Given the description of an element on the screen output the (x, y) to click on. 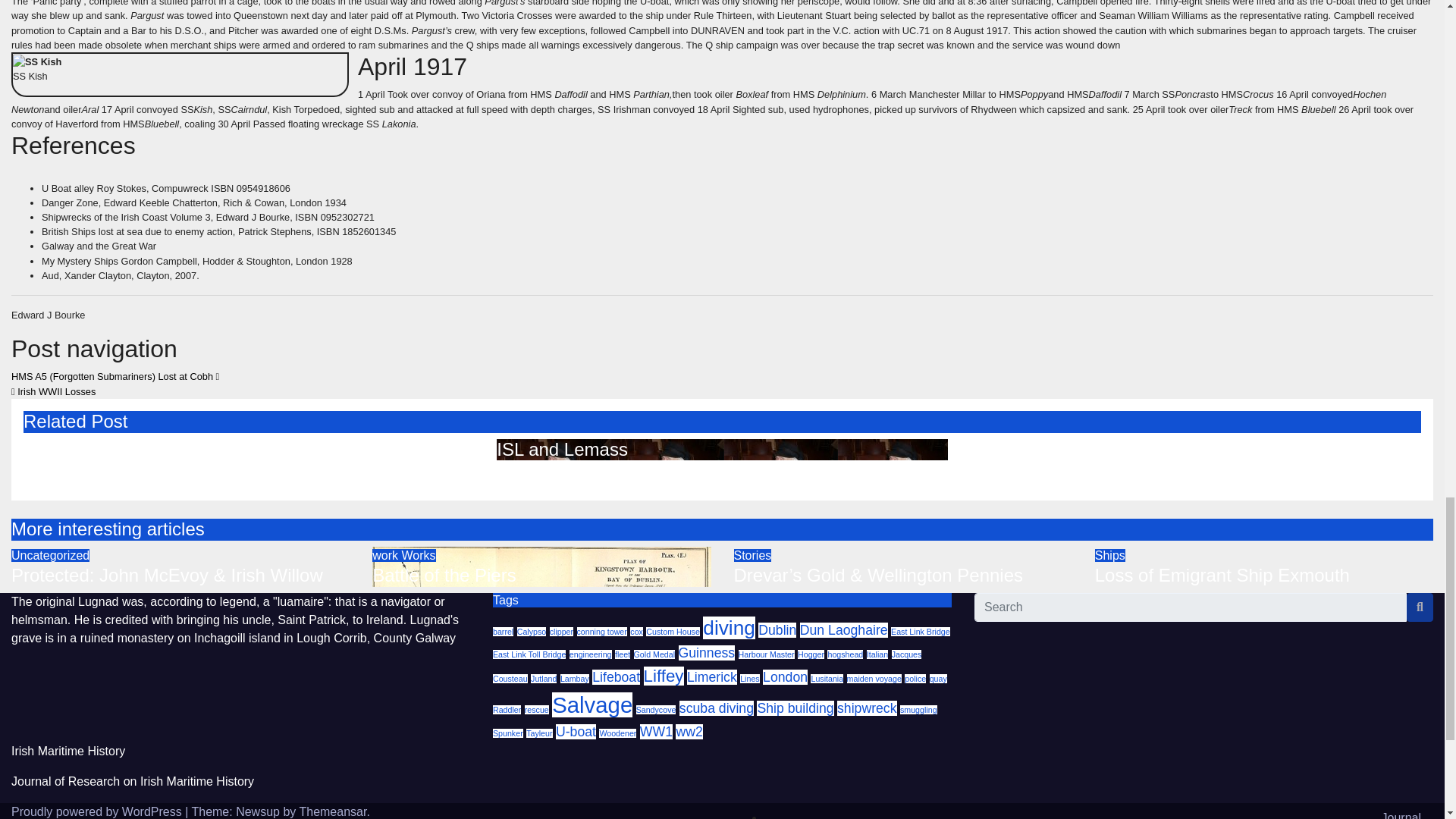
Permalink to: Battle of the Piers (443, 575)
Folia (990, 448)
Calypso (531, 631)
conning tower (601, 631)
Uncategorized (49, 554)
Irish WWII Losses (53, 391)
Battle of the Piers (443, 575)
Ships (1109, 554)
Journal (1099, 811)
work (386, 554)
